Given the description of an element on the screen output the (x, y) to click on. 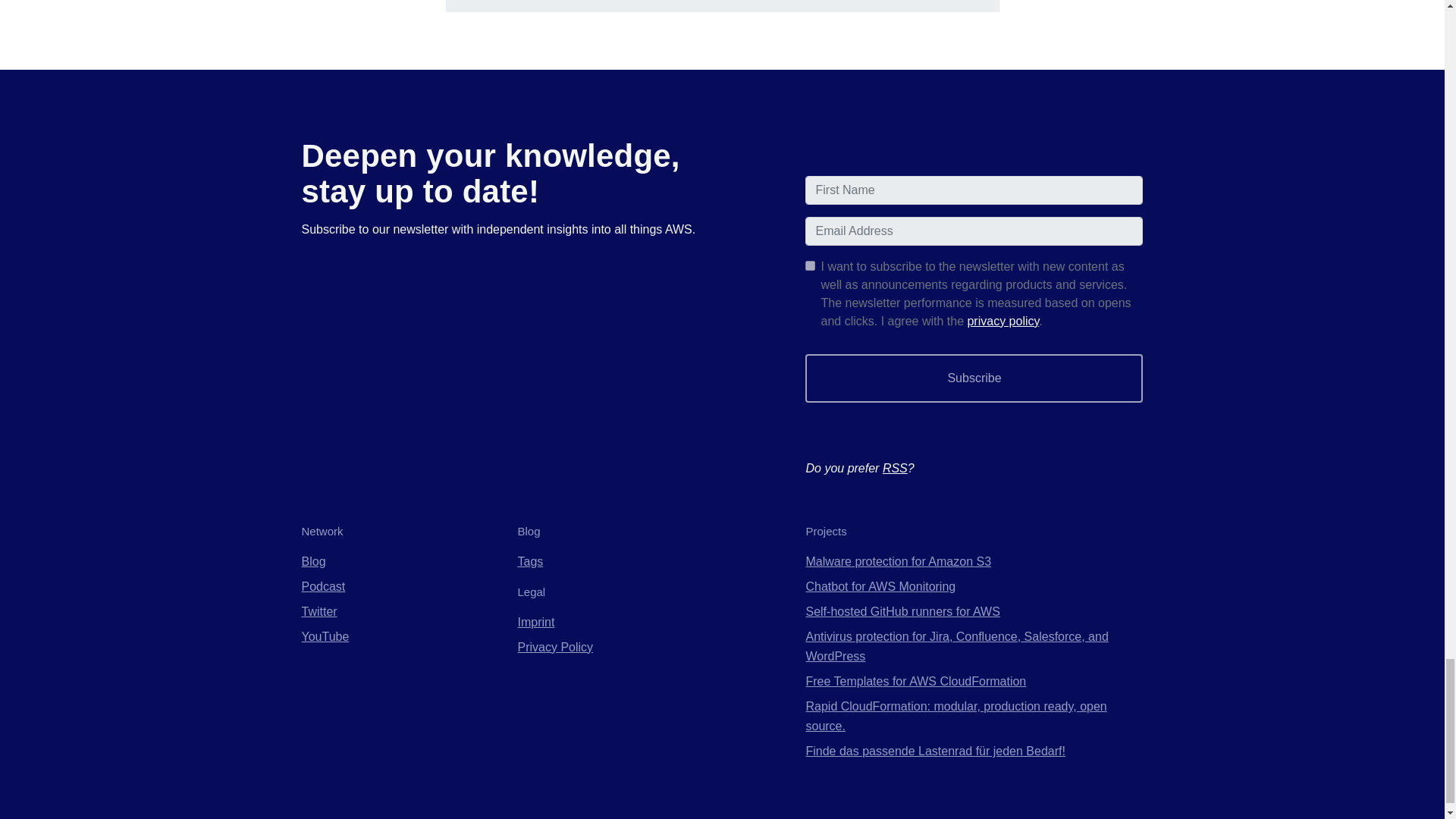
true (810, 266)
